Given the description of an element on the screen output the (x, y) to click on. 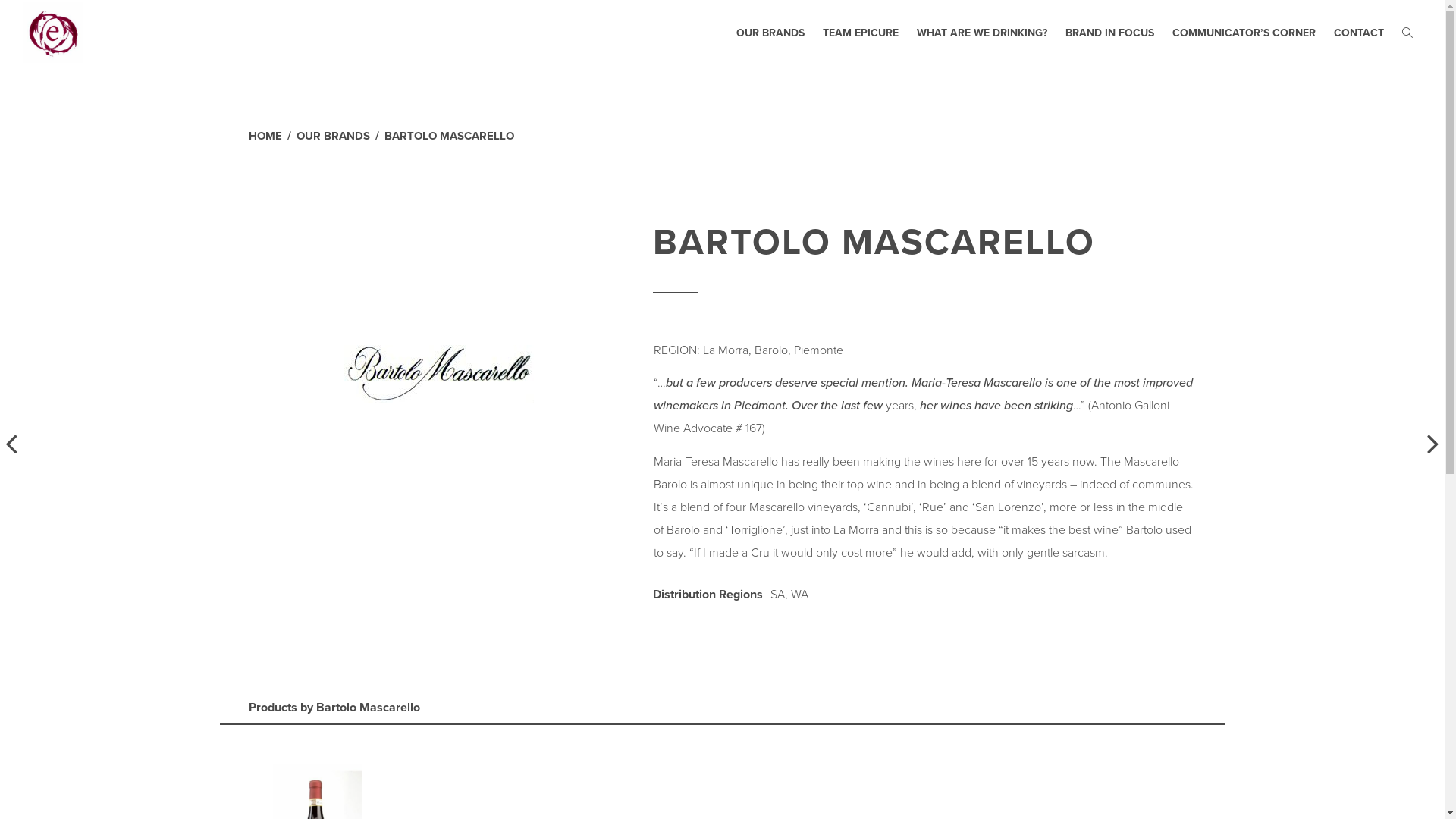
TEAM EPICURE Element type: text (860, 33)
bartolo-mascarello-logo Element type: hover (438, 374)
BRAND IN FOCUS Element type: text (1109, 33)
HOME Element type: text (265, 135)
CONTACT Element type: text (1358, 33)
WHAT ARE WE DRINKING? Element type: text (981, 33)
OUR BRANDS Element type: text (332, 135)
Epicure Wine Element type: hover (52, 32)
OUR BRANDS Element type: text (770, 33)
